Given the description of an element on the screen output the (x, y) to click on. 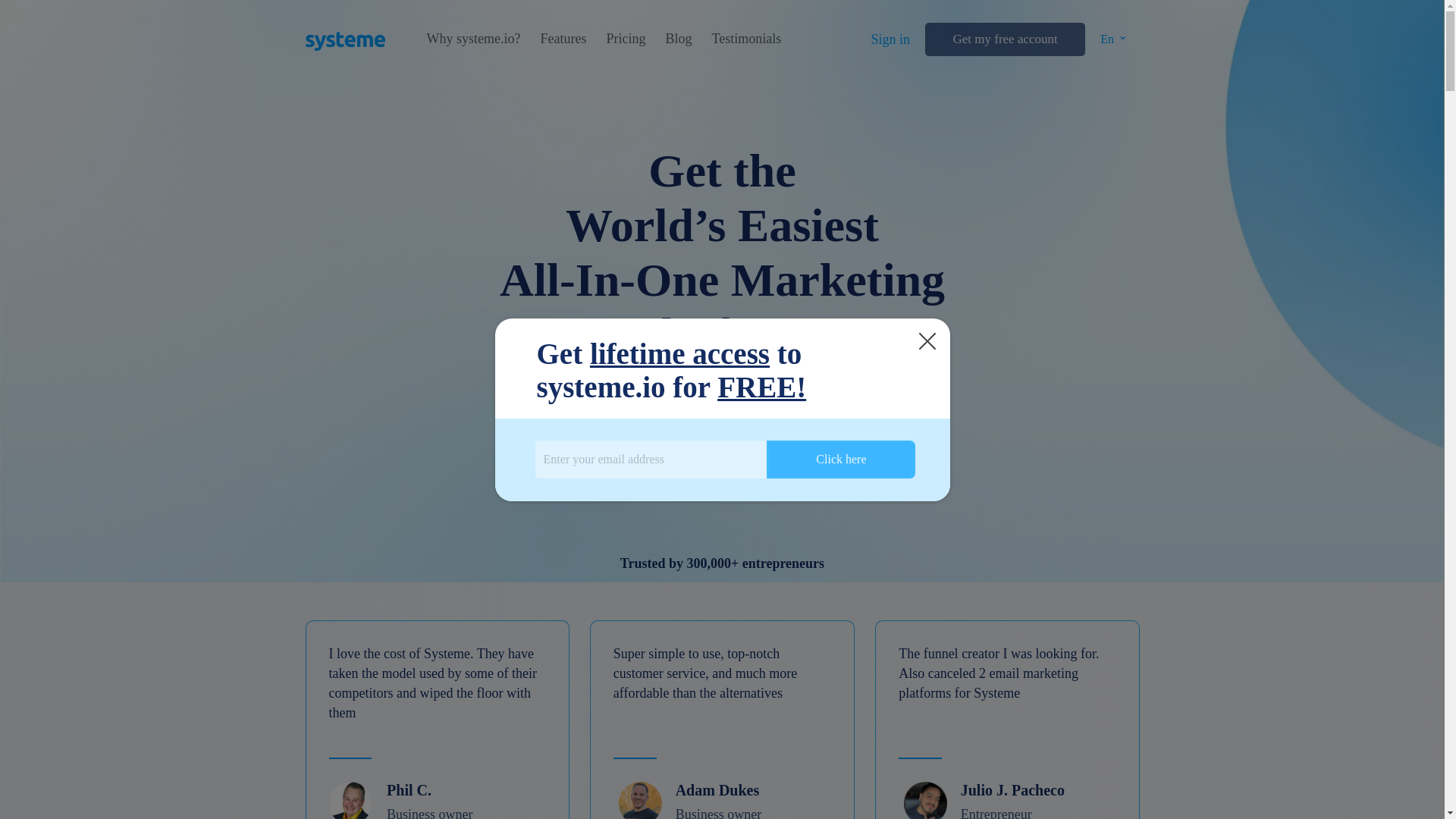
Testimonials (745, 38)
Sign in (890, 39)
Why systeme.io? (472, 38)
Pricing (625, 38)
Features (563, 38)
Get my free account (1004, 39)
Blog (678, 38)
